Given the description of an element on the screen output the (x, y) to click on. 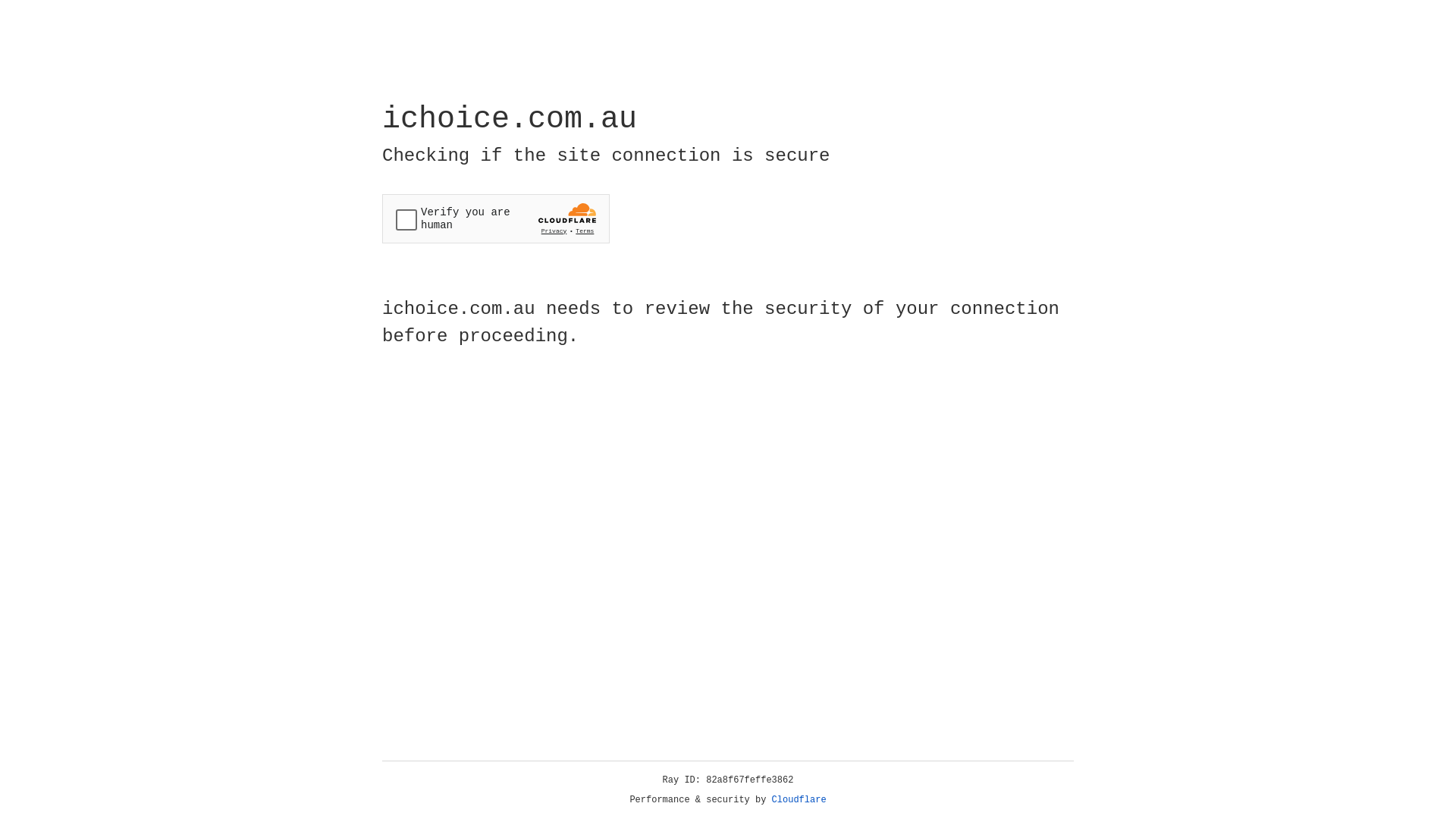
Cloudflare Element type: text (798, 799)
Widget containing a Cloudflare security challenge Element type: hover (495, 218)
